Given the description of an element on the screen output the (x, y) to click on. 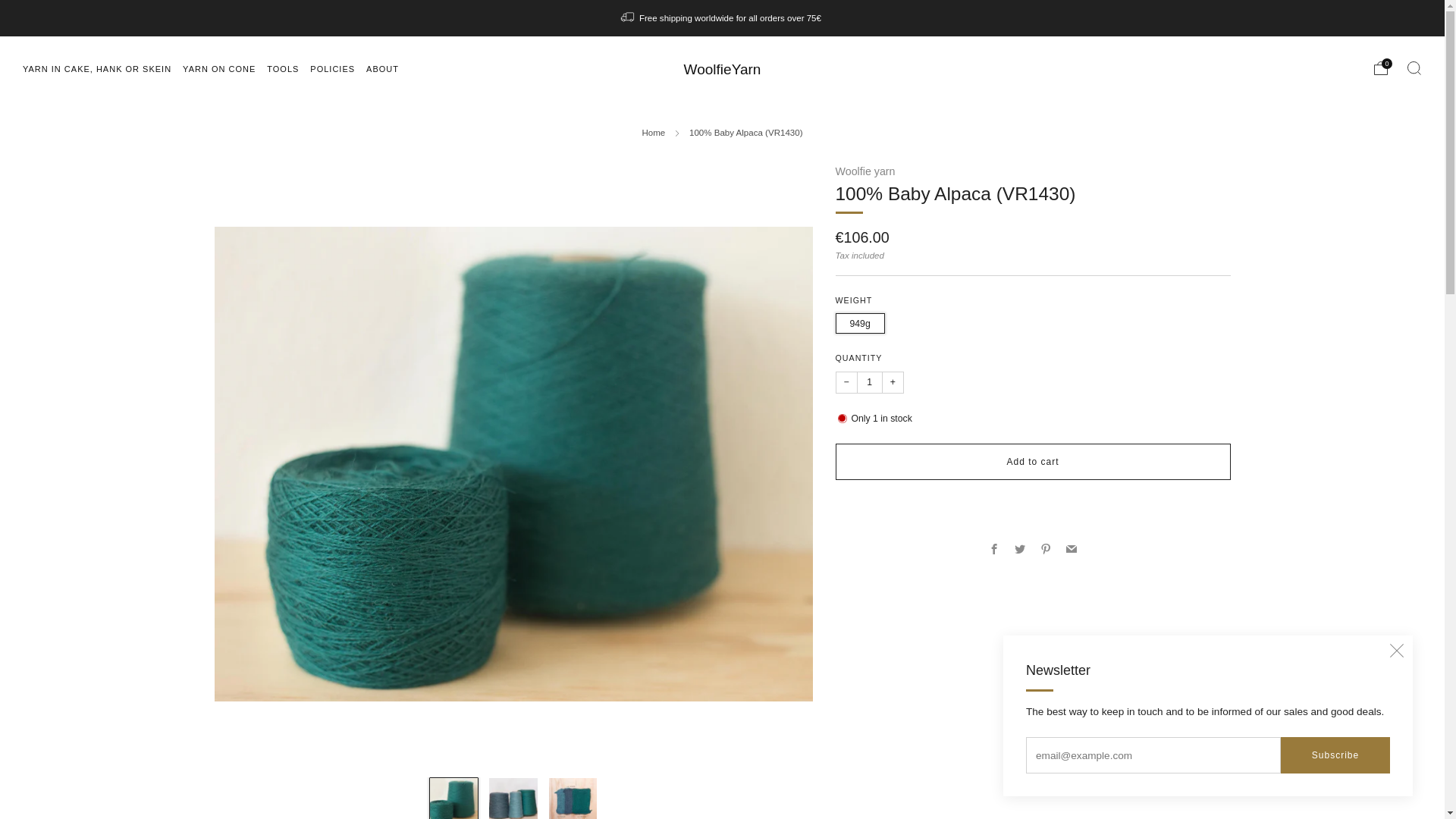
TOOLS (282, 68)
YARN IN CAKE, HANK OR SKEIN (97, 68)
Woolfie yarn (865, 171)
ABOUT (382, 68)
949g (862, 319)
0 (1381, 68)
Home (653, 132)
Subscribe (1335, 755)
Home (653, 132)
YARN ON CONE (219, 68)
POLICIES (332, 68)
WoolfieYarn (722, 69)
Woolfie yarn (865, 171)
Add to cart (1032, 461)
